Given the description of an element on the screen output the (x, y) to click on. 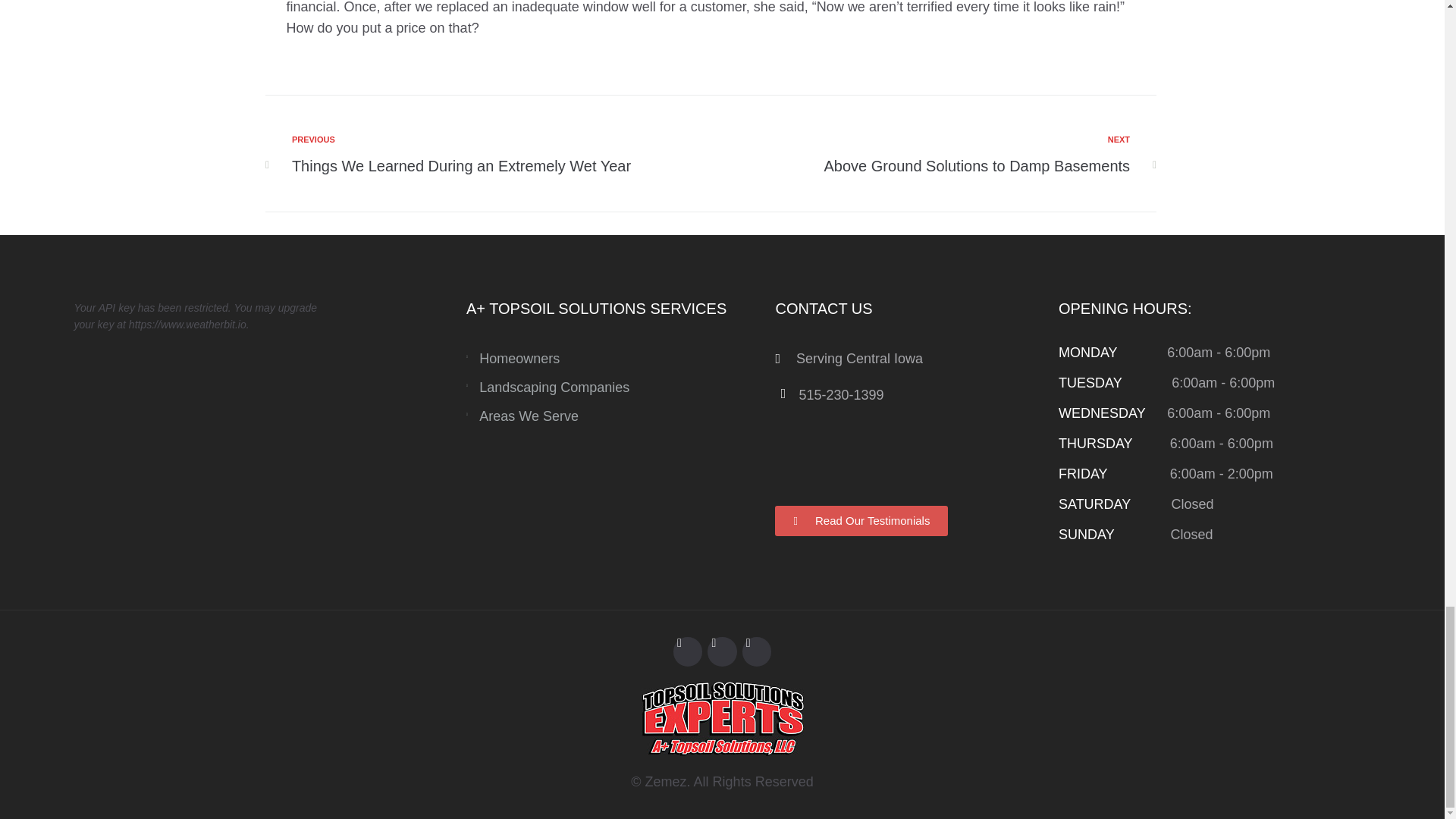
Homeowners (612, 358)
515-230-1399 (828, 394)
Read Our Testimonials (496, 155)
Zemez (860, 521)
Areas We Serve (666, 781)
Landscaping Companies (612, 415)
